Given the description of an element on the screen output the (x, y) to click on. 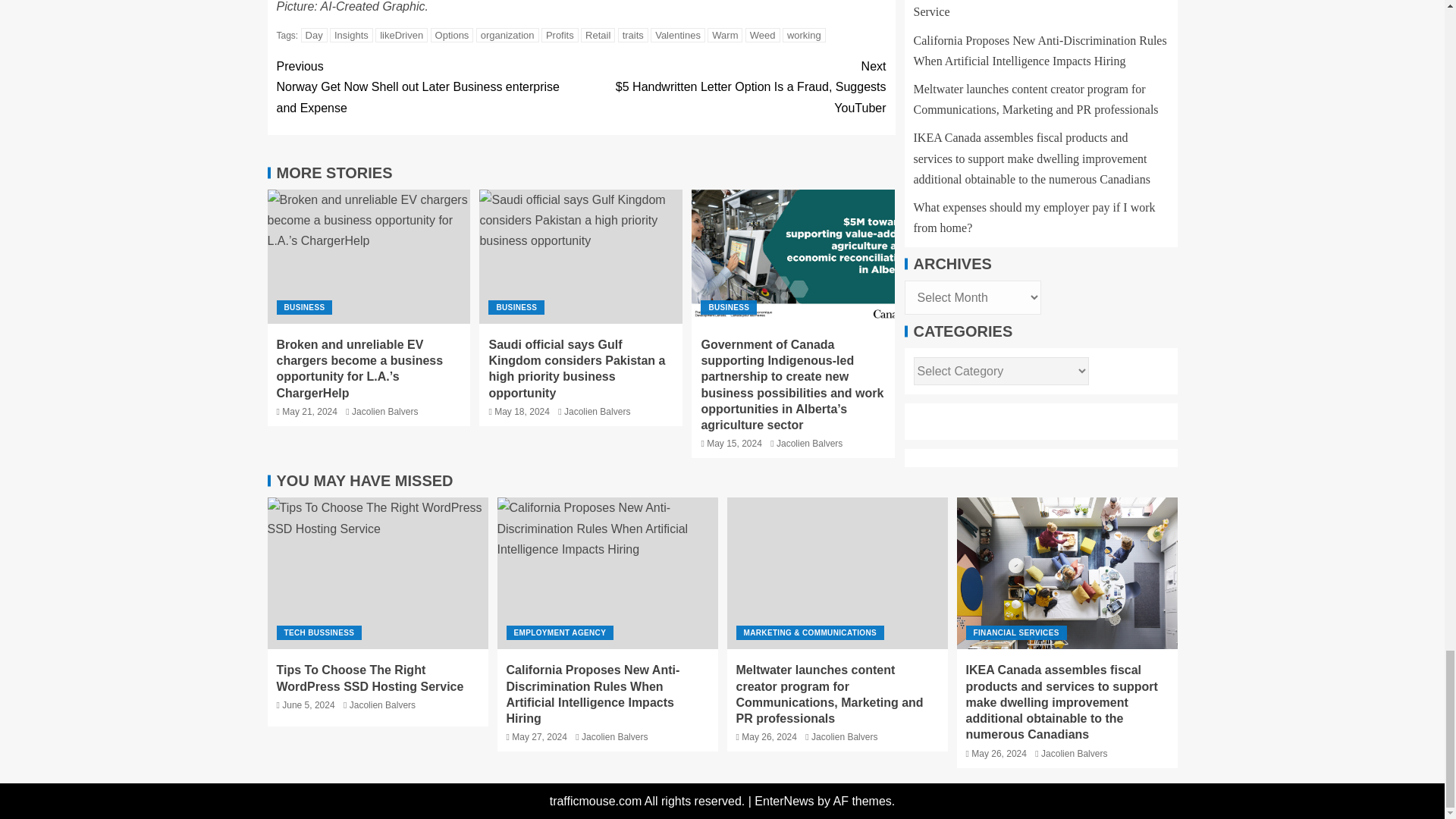
Options (452, 34)
Day (314, 34)
Insights (351, 34)
Tips To Choose The Right WordPress SSD Hosting Service (376, 573)
Profits (559, 34)
likeDriven (401, 34)
organization (507, 34)
